Given the description of an element on the screen output the (x, y) to click on. 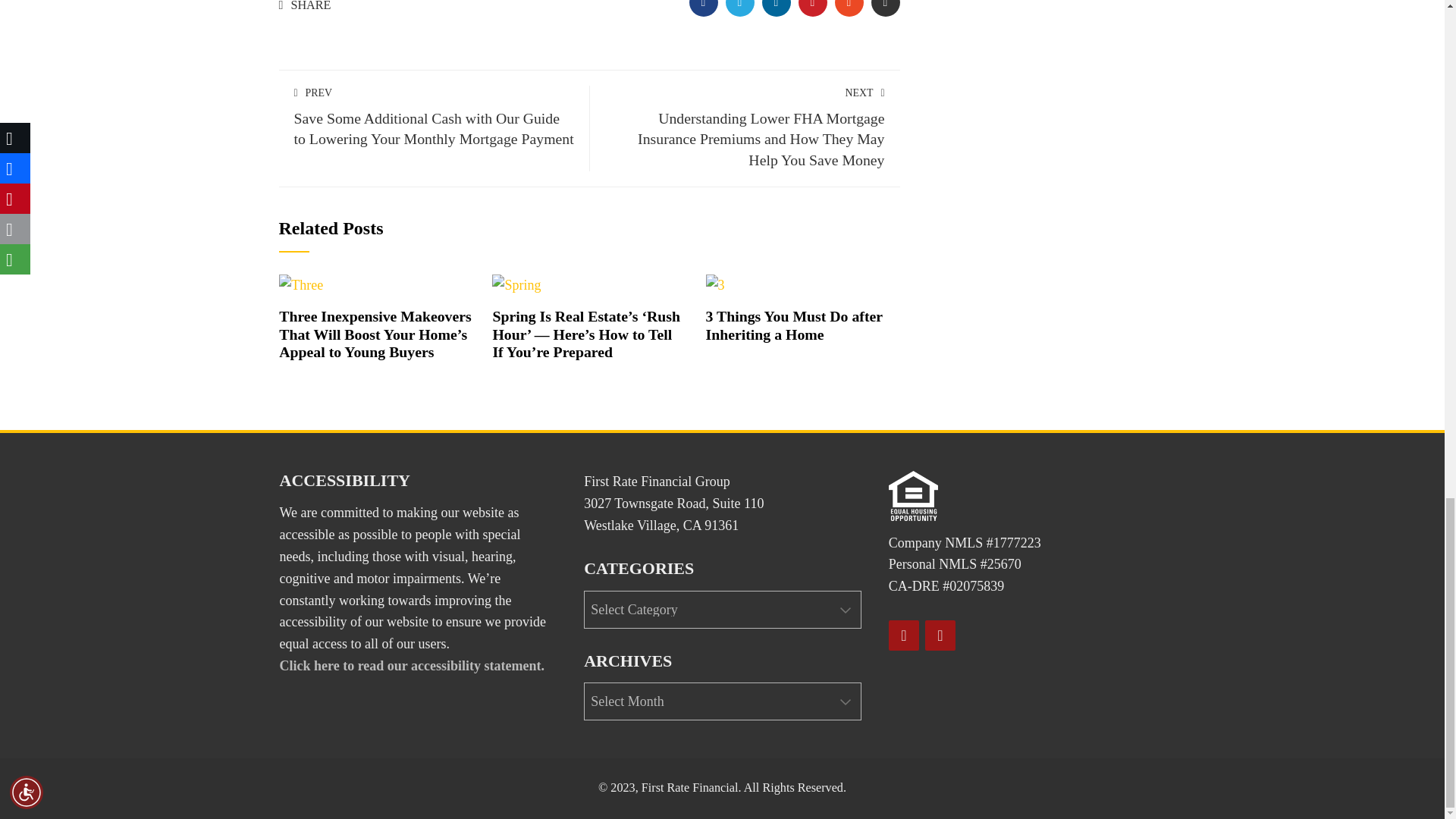
3 Things You Must Do after Inheriting a Home (715, 283)
3 Things You Must Do after Inheriting a Home (794, 325)
